Given the description of an element on the screen output the (x, y) to click on. 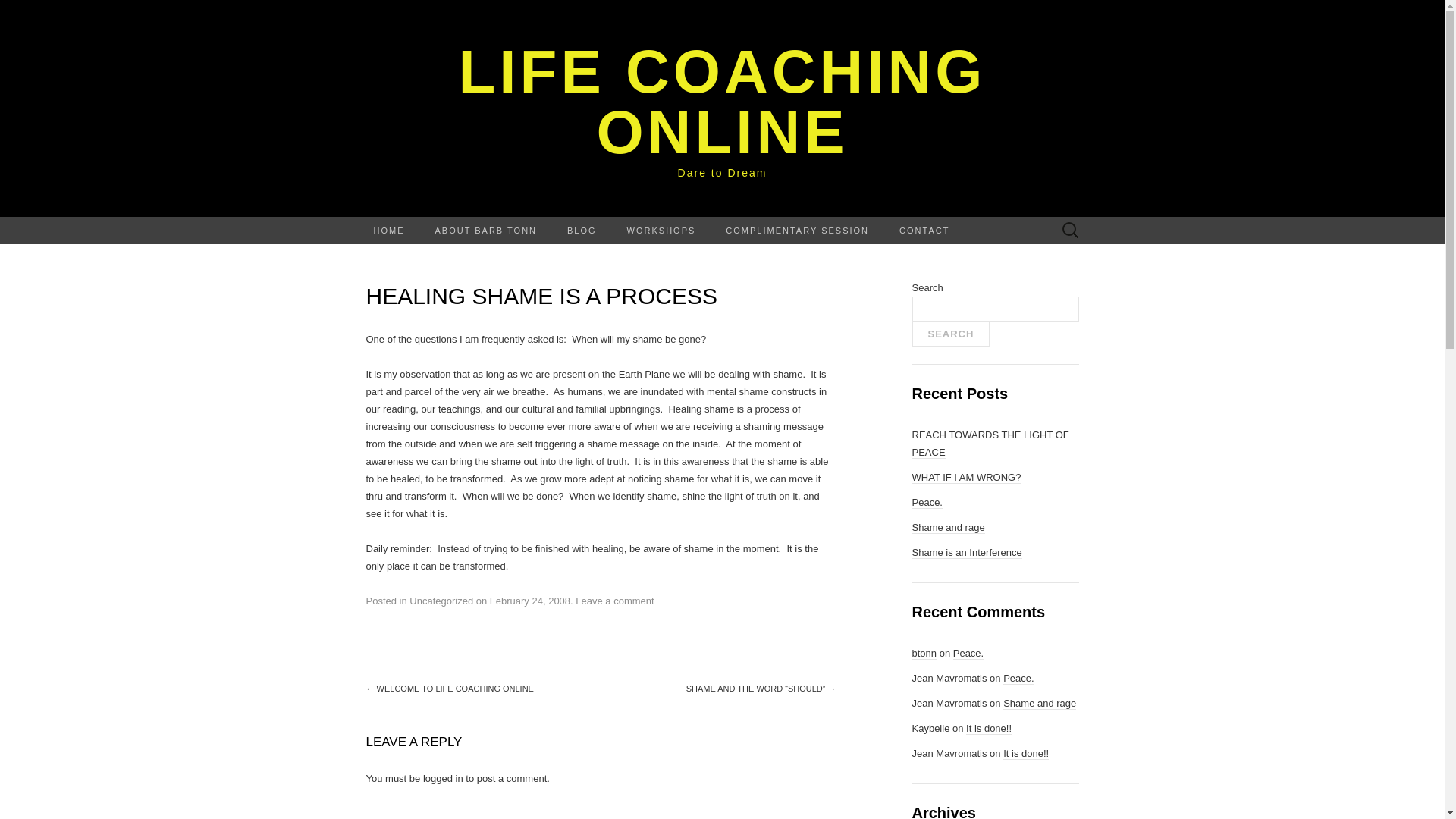
WHAT IF I AM WRONG? (965, 477)
Life Coaching Online (721, 101)
Shame is an Interference (966, 552)
LIFE COACHING ONLINE (721, 101)
logged in (443, 777)
Uncategorized (441, 601)
SEARCH (950, 333)
BLOG (581, 230)
HOME (388, 230)
February 24, 2008 (529, 601)
Leave a comment (614, 601)
4:14 pm (529, 601)
Search (16, 12)
btonn (923, 653)
Peace. (1018, 678)
